Given the description of an element on the screen output the (x, y) to click on. 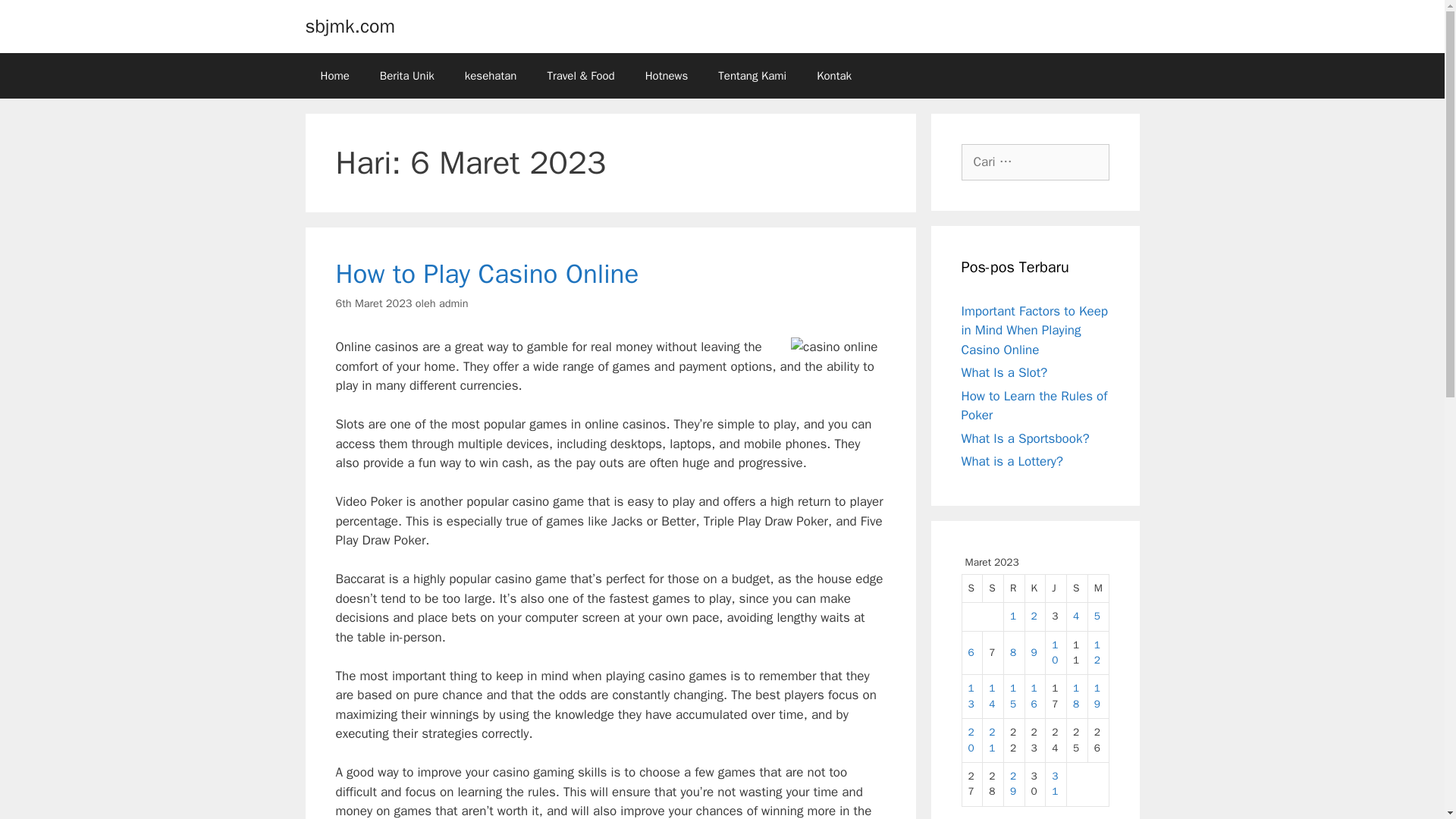
What Is a Sportsbook? (1024, 438)
Important Factors to Keep in Mind When Playing Casino Online (1034, 330)
Cari (26, 18)
What Is a Slot? (1004, 372)
Lihat semua tulisan oleh admin (453, 303)
Cari untuk: (1034, 162)
Home (334, 75)
How to Learn the Rules of Poker (1034, 406)
Berita Unik (407, 75)
Hotnews (666, 75)
